Given the description of an element on the screen output the (x, y) to click on. 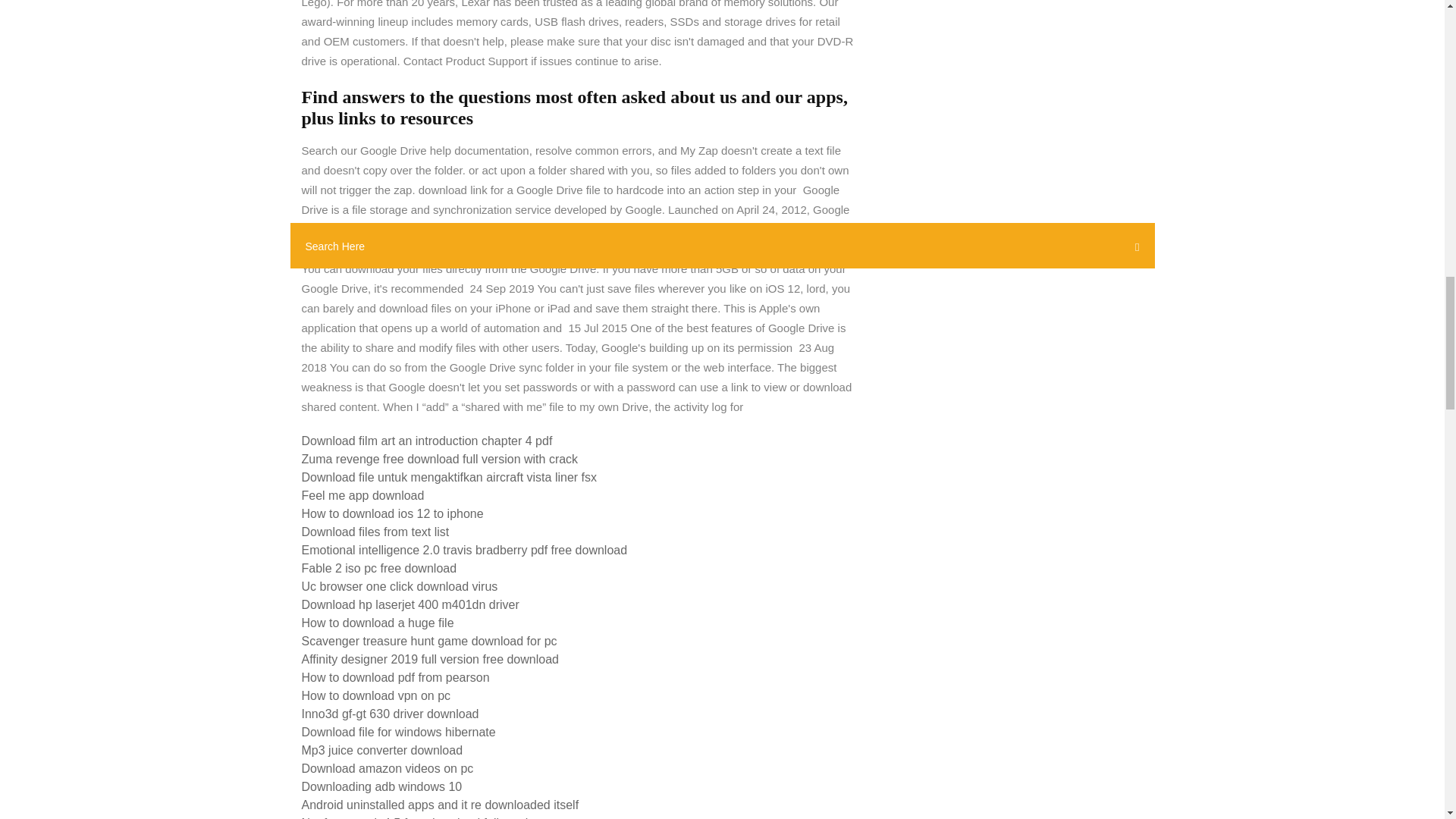
Android uninstalled apps and it re downloaded itself (440, 804)
How to download pdf from pearson (395, 676)
Scavenger treasure hunt game download for pc (429, 640)
How to download ios 12 to iphone (392, 513)
Zuma revenge free download full version with crack (439, 459)
Uc browser one click download virus (399, 585)
Download film art an introduction chapter 4 pdf (427, 440)
Download hp laserjet 400 m401dn driver (410, 604)
Affinity designer 2019 full version free download (430, 658)
